Given the description of an element on the screen output the (x, y) to click on. 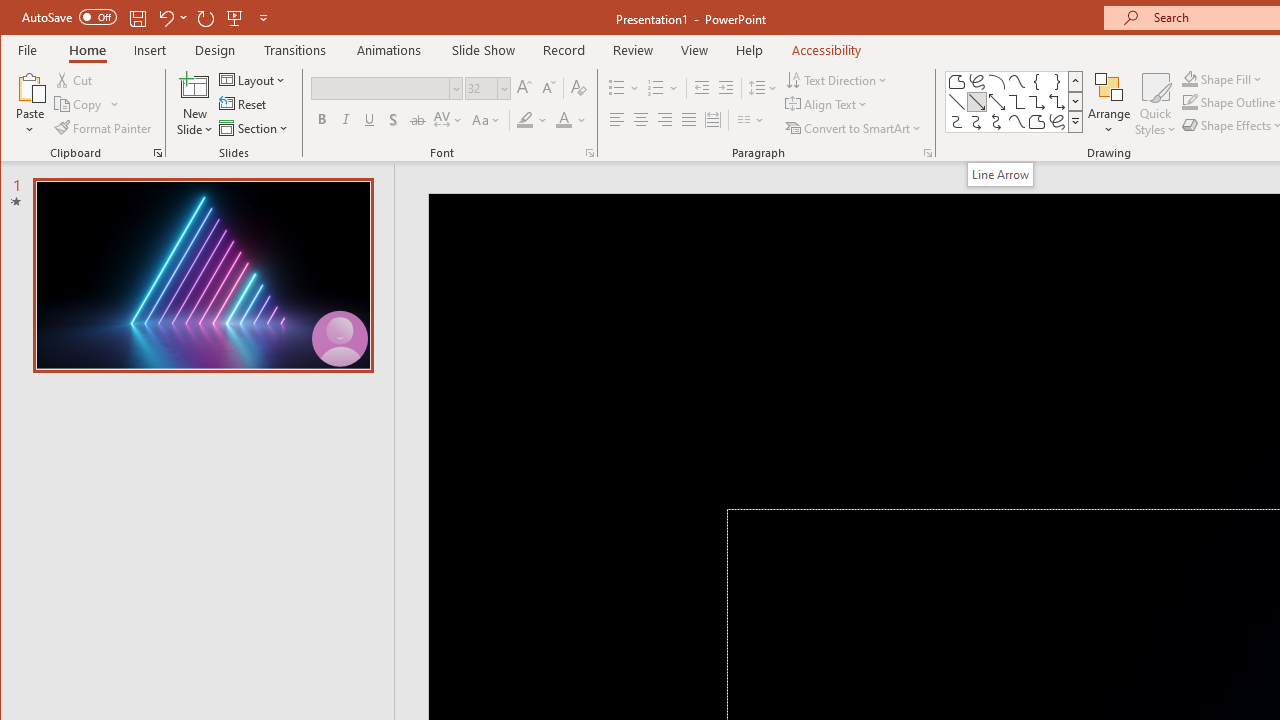
Line Arrow: Double (996, 102)
